Given the description of an element on the screen output the (x, y) to click on. 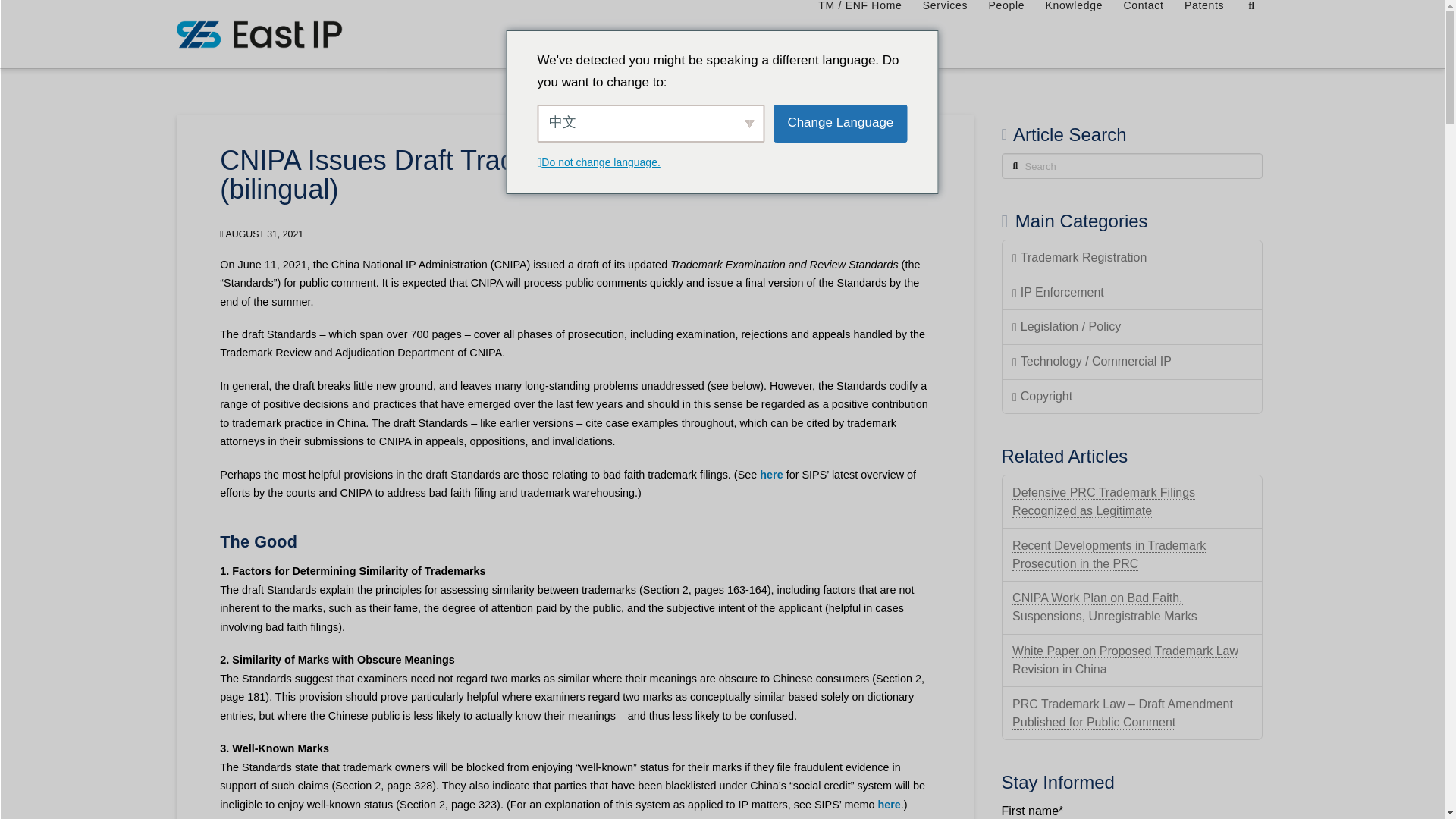
Trademark Registration (1132, 257)
here (771, 474)
Knowledge (1074, 33)
Copyright (1132, 397)
Patents (1203, 33)
Defensive PRC Trademark Filings Recognized as Legitimate (1103, 501)
IP Enforcement (1132, 292)
Services (945, 33)
White Paper on Proposed Trademark Law Revision in China (1125, 660)
